Given the description of an element on the screen output the (x, y) to click on. 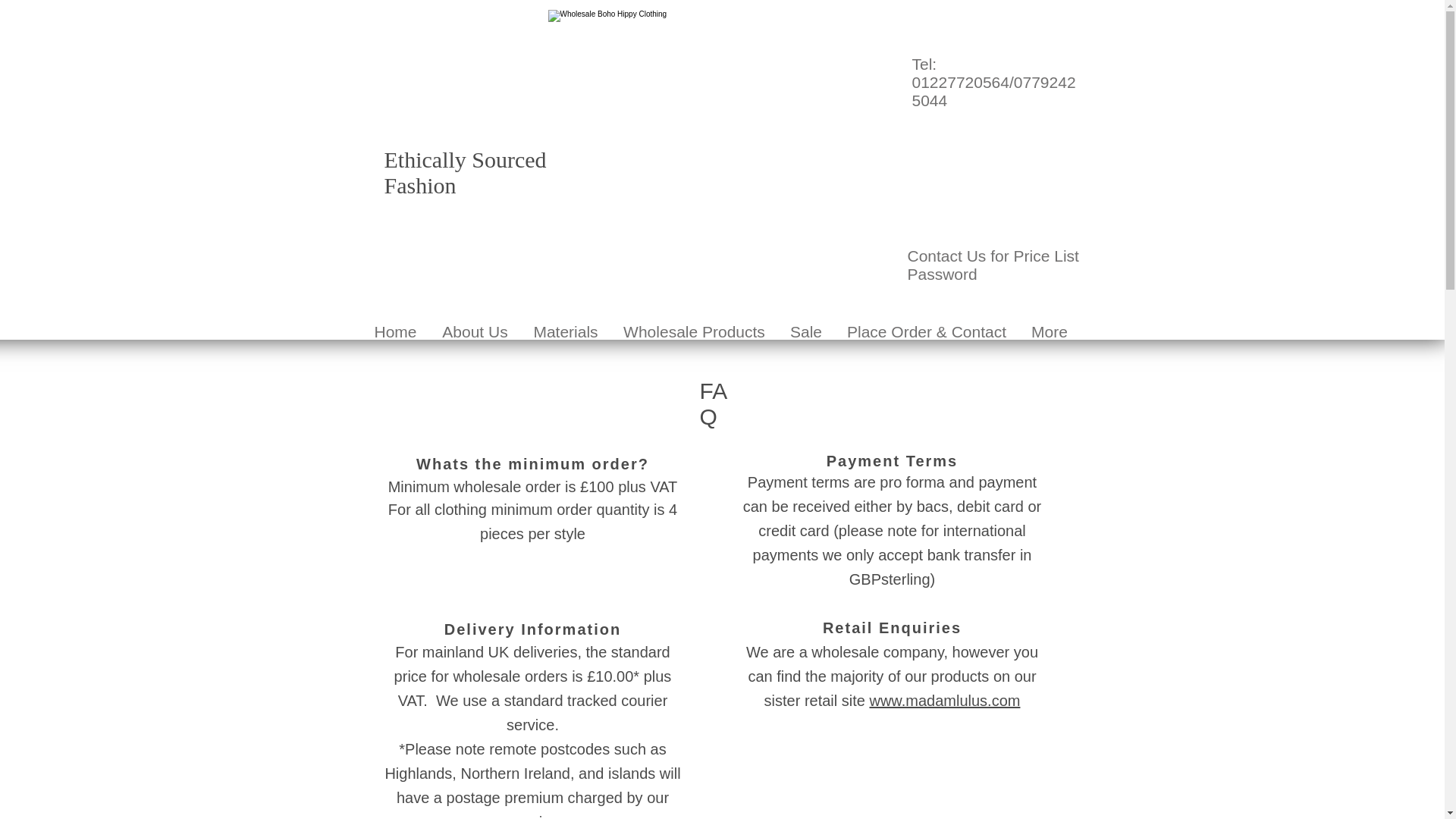
Sale (805, 331)
About Us (474, 331)
Home (395, 331)
www.madamlulus.com (944, 700)
Contact Us for Price List Password (992, 264)
Materials (564, 331)
